Given the description of an element on the screen output the (x, y) to click on. 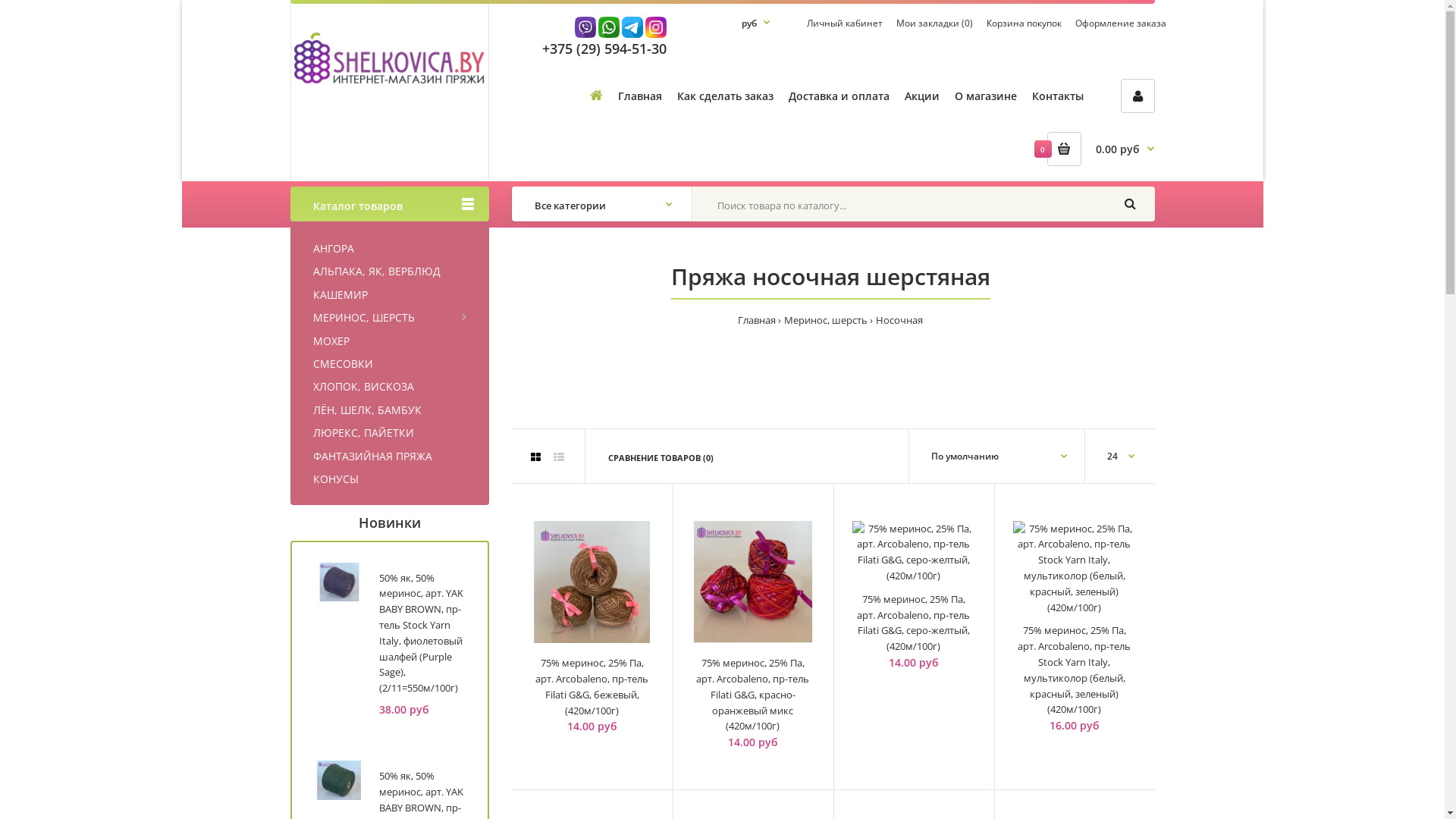
List Element type: hover (558, 456)
Grid Element type: hover (535, 456)
+375 (29) 594-51-30 Element type: text (604, 48)
